Given the description of an element on the screen output the (x, y) to click on. 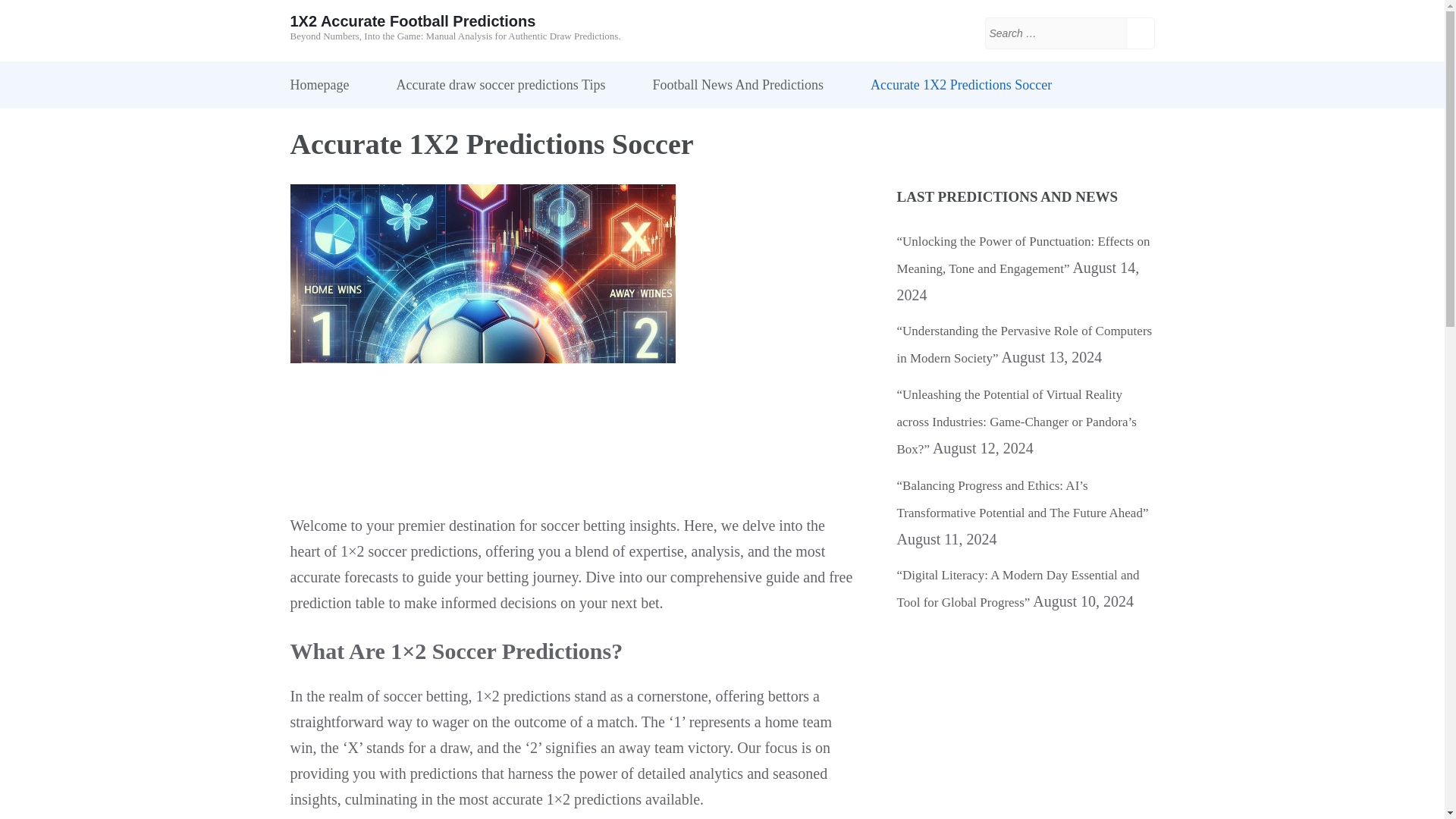
Accurate draw soccer predictions Tips (500, 84)
Football News And Predictions (738, 84)
Accurate 1X2 Predictions Soccer (960, 84)
Homepage (319, 84)
1X2 Accurate Football Predictions (412, 21)
